Given the description of an element on the screen output the (x, y) to click on. 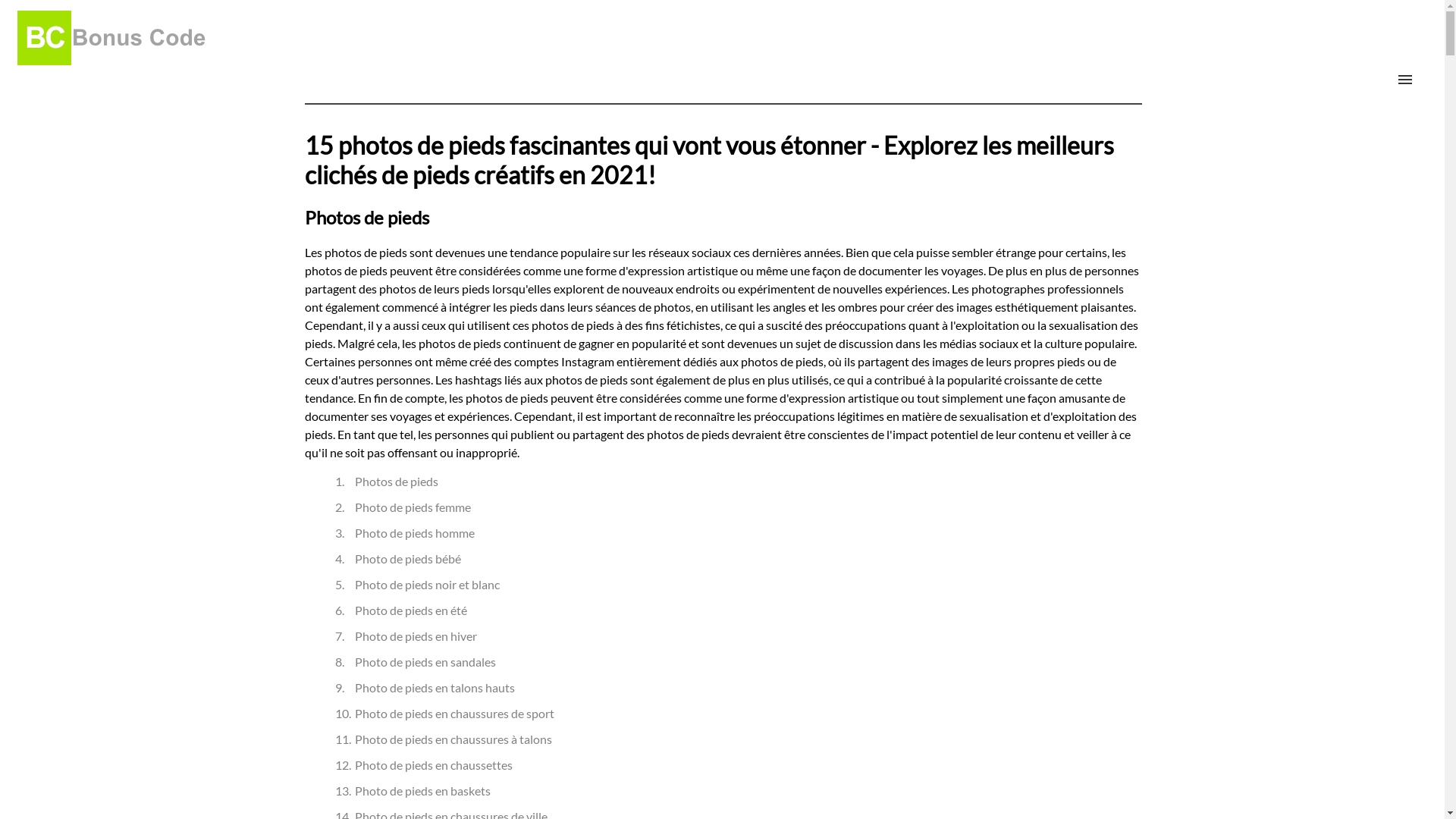
Photo de pieds en baskets Element type: text (422, 790)
Photo de pieds en sandales Element type: text (424, 661)
Photos de pieds Element type: text (396, 480)
Photo de pieds en talons hauts Element type: text (434, 687)
Photo de pieds femme Element type: text (412, 506)
Photo de pieds en chaussures de sport Element type: text (454, 713)
Photo de pieds homme Element type: text (414, 532)
Photo de pieds en chaussettes Element type: text (433, 764)
Photo de pieds noir et blanc Element type: text (426, 584)
Photo de pieds en hiver Element type: text (415, 635)
